Given the description of an element on the screen output the (x, y) to click on. 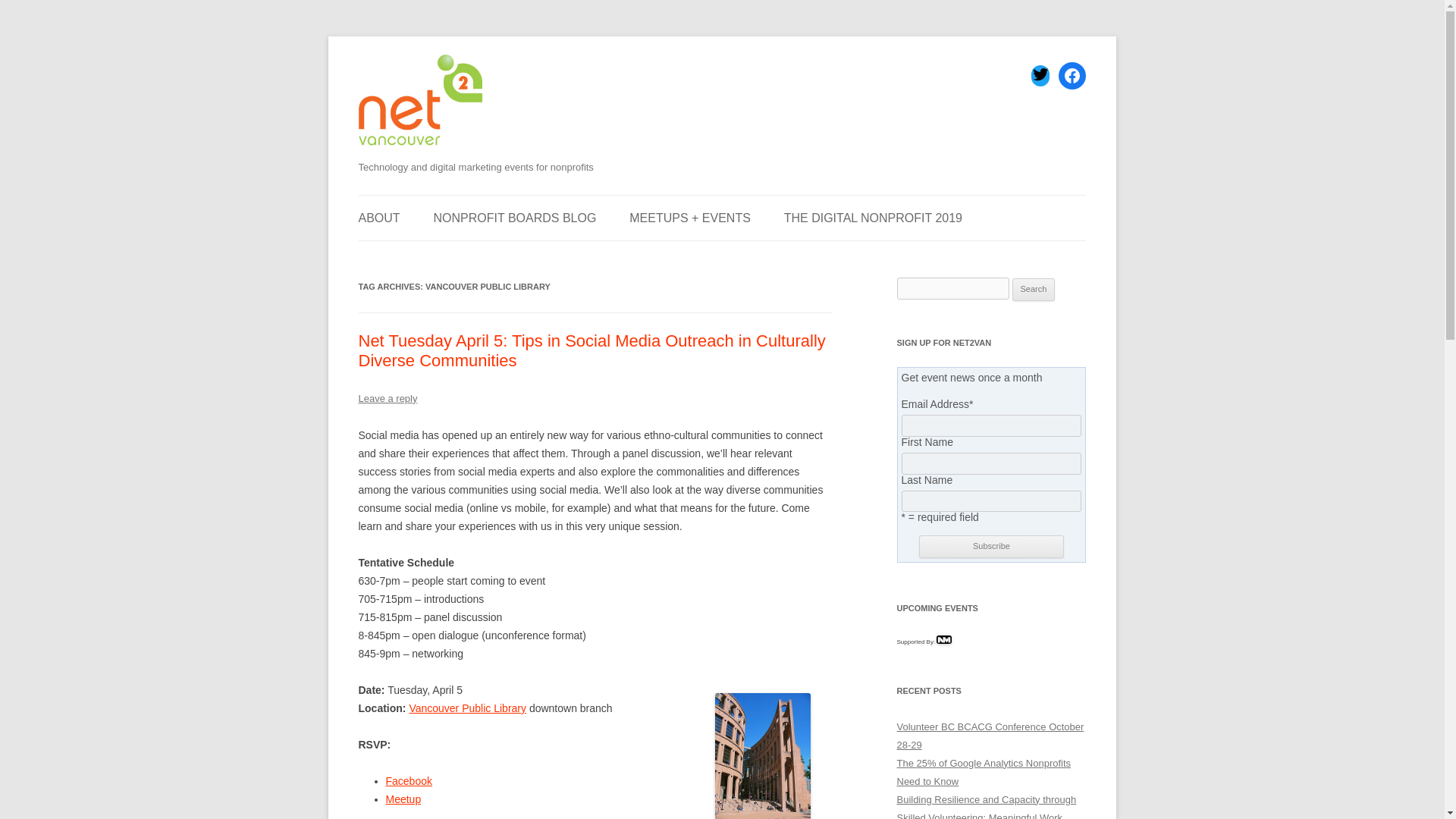
THE DIGITAL NONPROFIT 2019 (873, 217)
Meetup (402, 799)
Facebook (407, 780)
Vancouver Public Library (467, 707)
Leave a reply (387, 398)
ABOUT (378, 217)
Vancouver Public Library (467, 707)
